Given the description of an element on the screen output the (x, y) to click on. 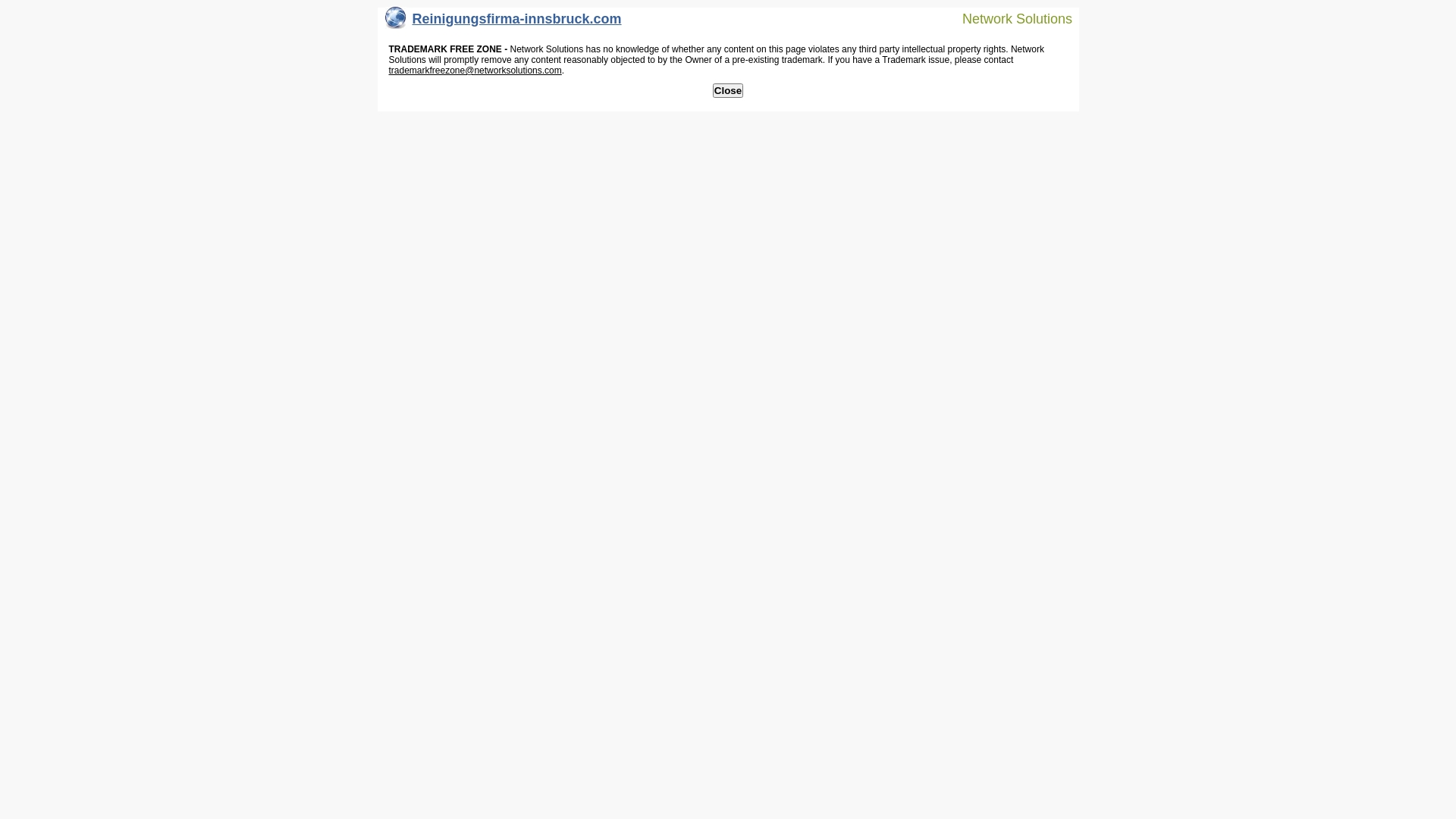
trademarkfreezone@networksolutions.com Element type: text (474, 70)
Reinigungsfirma-innsbruck.com Element type: text (503, 21)
Close Element type: text (727, 90)
Network Solutions Element type: text (1007, 17)
